Given the description of an element on the screen output the (x, y) to click on. 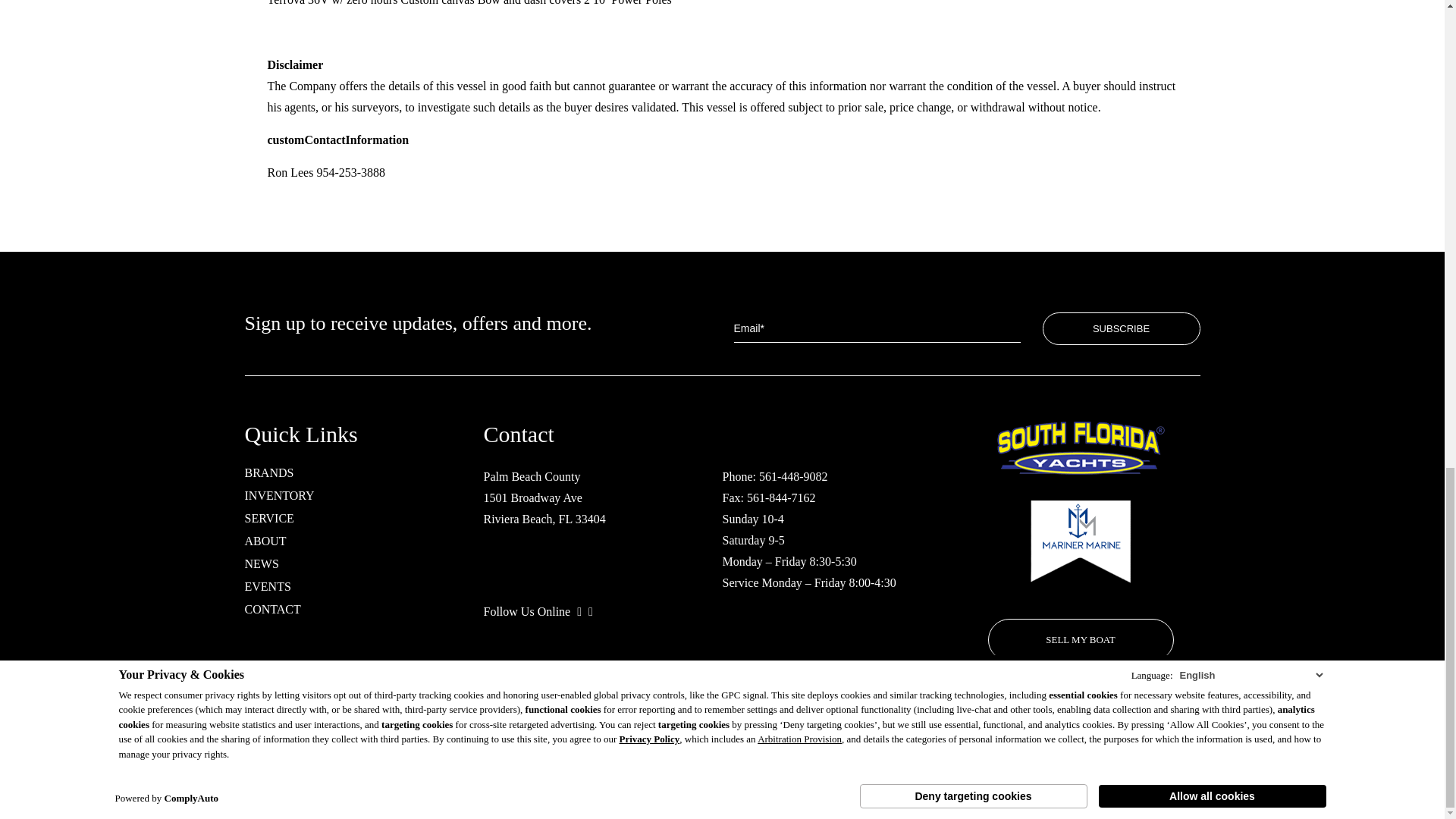
Subscribe (1120, 328)
561-448-9082 (793, 476)
Subscribe (1120, 328)
INVENTORY (279, 495)
NEWS (261, 563)
BRANDS (269, 472)
CONTACT (271, 609)
EVENTS (266, 586)
SERVICE (269, 518)
ABOUT (264, 540)
